Given the description of an element on the screen output the (x, y) to click on. 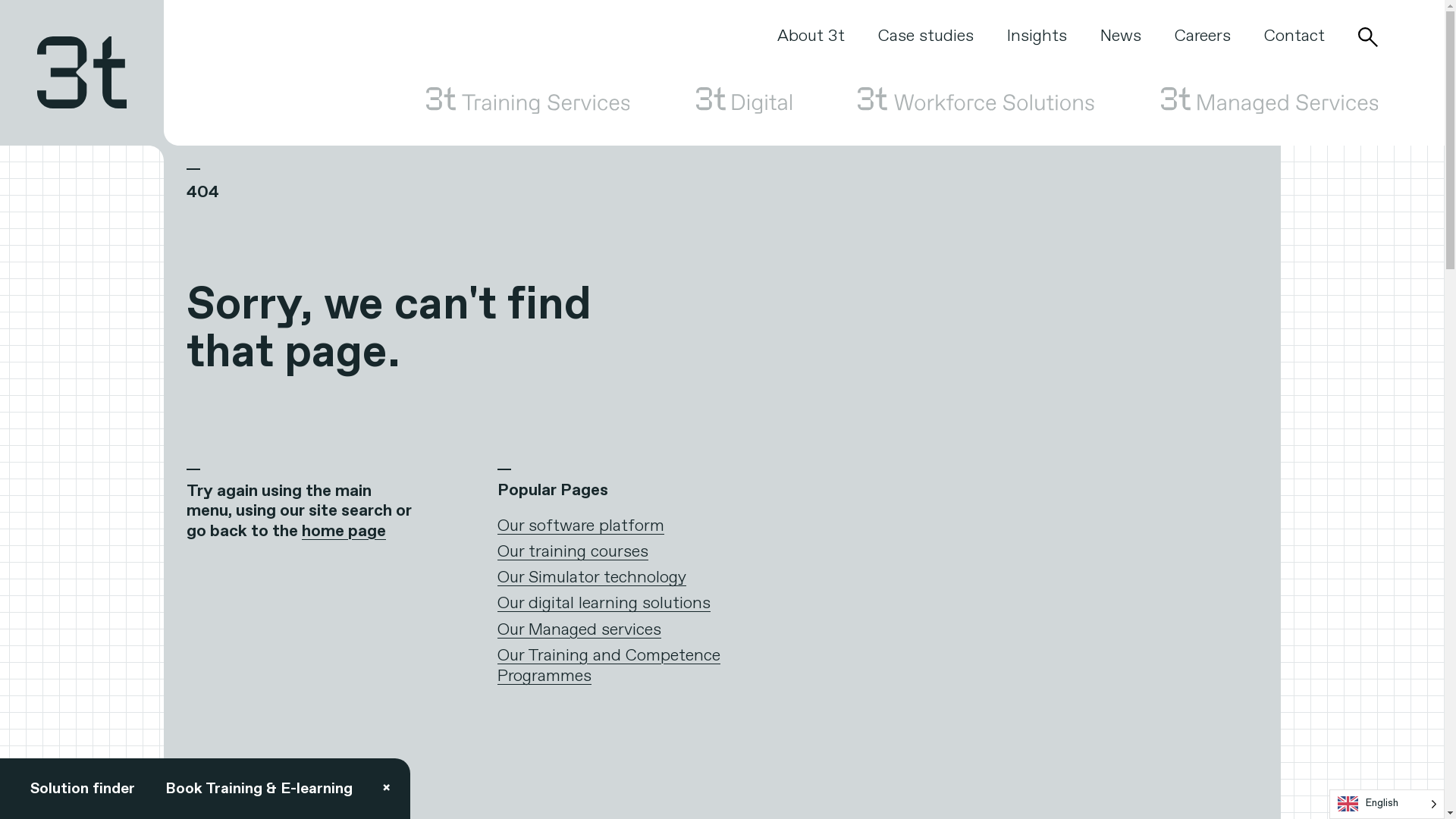
home page Element type: text (343, 531)
News Element type: text (1120, 36)
Our Managed services Element type: text (579, 629)
About 3t Element type: text (810, 36)
Our software platform Element type: text (580, 525)
Our digital learning solutions Element type: text (603, 603)
Search Element type: text (1056, 243)
Insights Element type: text (1036, 36)
Solution finder Element type: text (82, 788)
Search Element type: text (1367, 37)
Careers Element type: text (1202, 36)
Our Training and Competence Programmes Element type: text (608, 666)
Our Simulator technology Element type: text (591, 577)
Case studies Element type: text (925, 36)
Our training courses Element type: text (572, 551)
Book Training & E-learning Element type: text (258, 788)
Contact Element type: text (1294, 36)
